Given the description of an element on the screen output the (x, y) to click on. 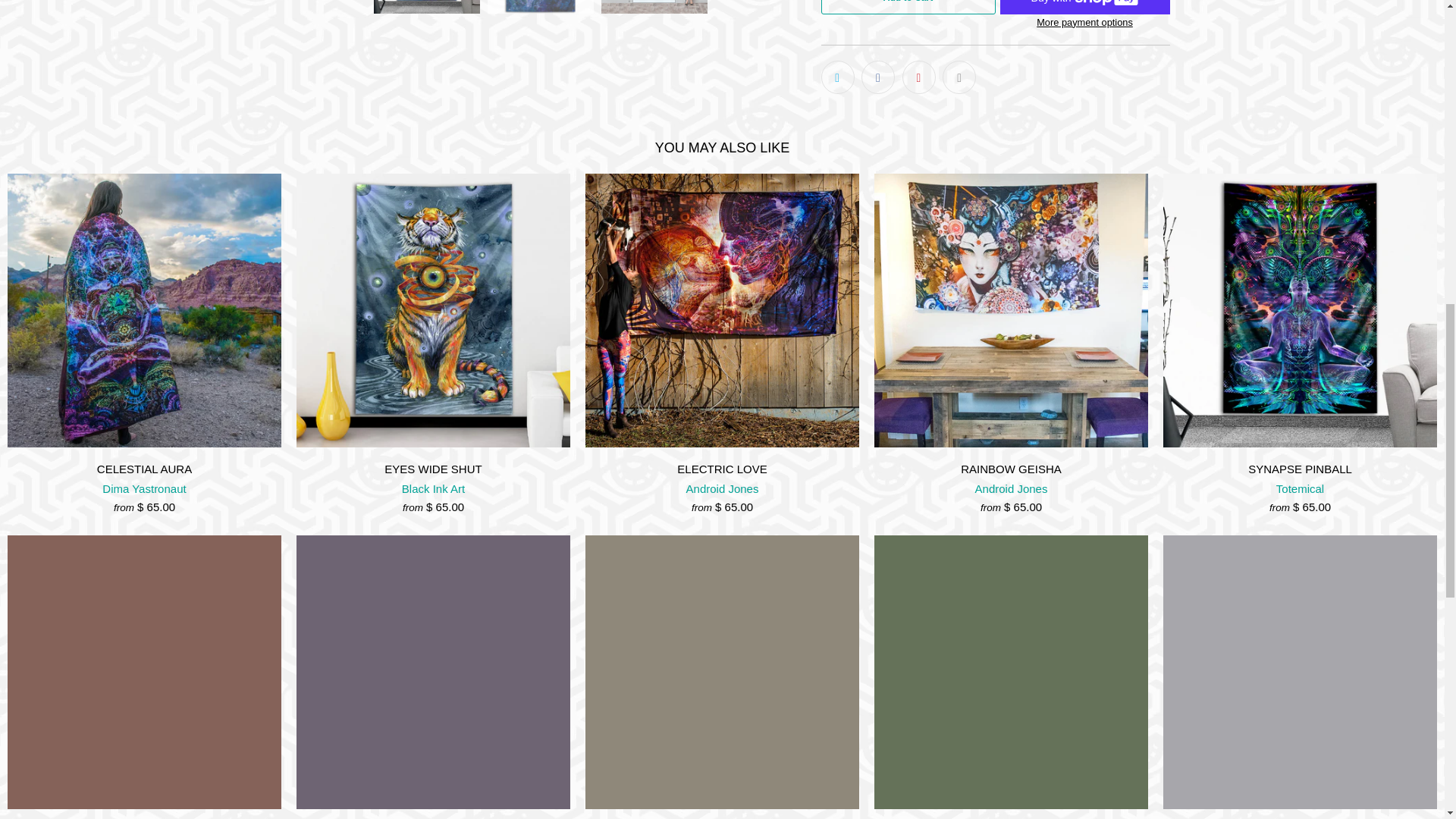
Share this on Twitter (837, 77)
Share this on Pinterest (919, 77)
Share this on Facebook (878, 77)
Email this to a friend (958, 77)
